Given the description of an element on the screen output the (x, y) to click on. 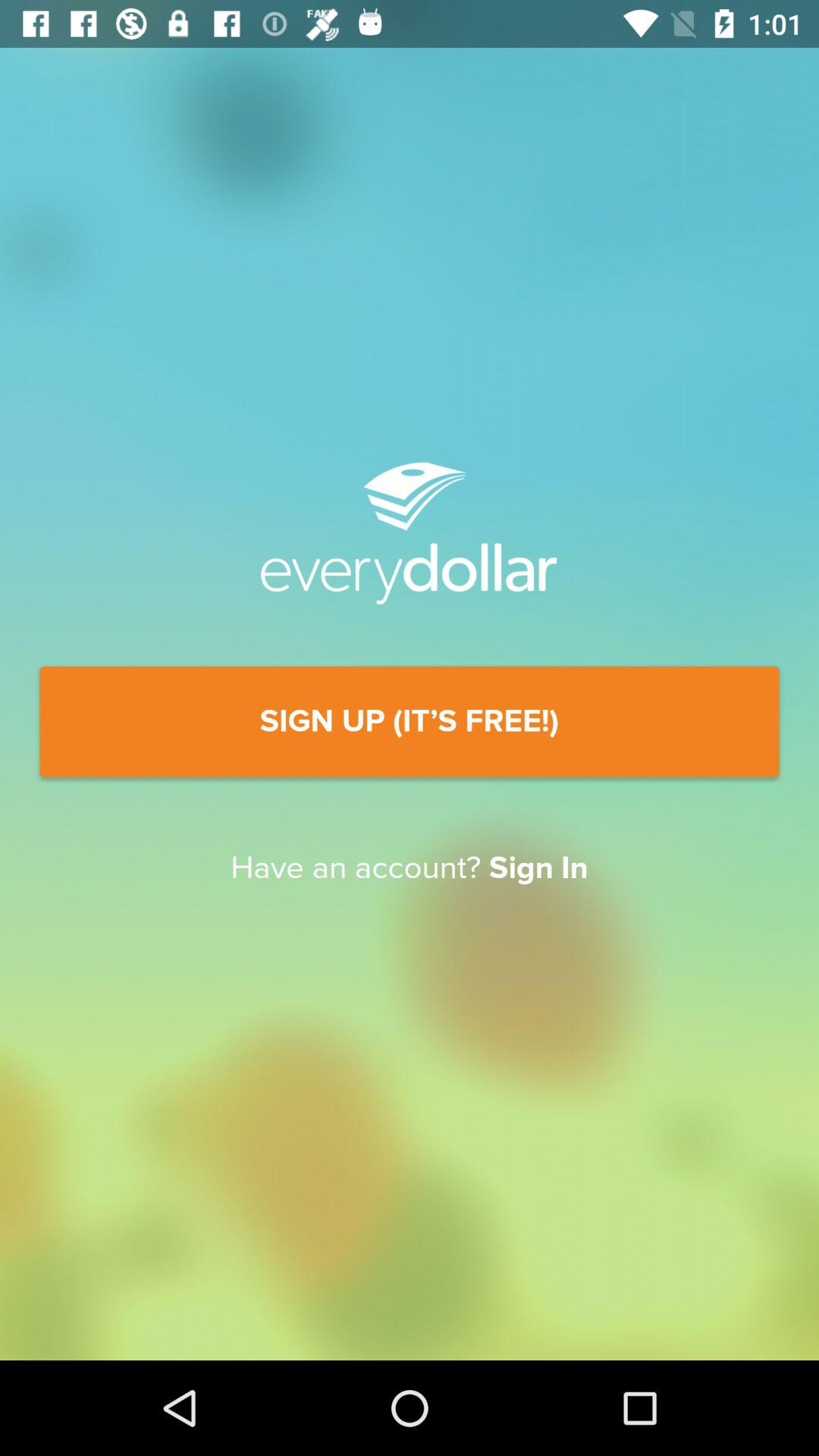
turn off the icon below the sign up it item (409, 868)
